Given the description of an element on the screen output the (x, y) to click on. 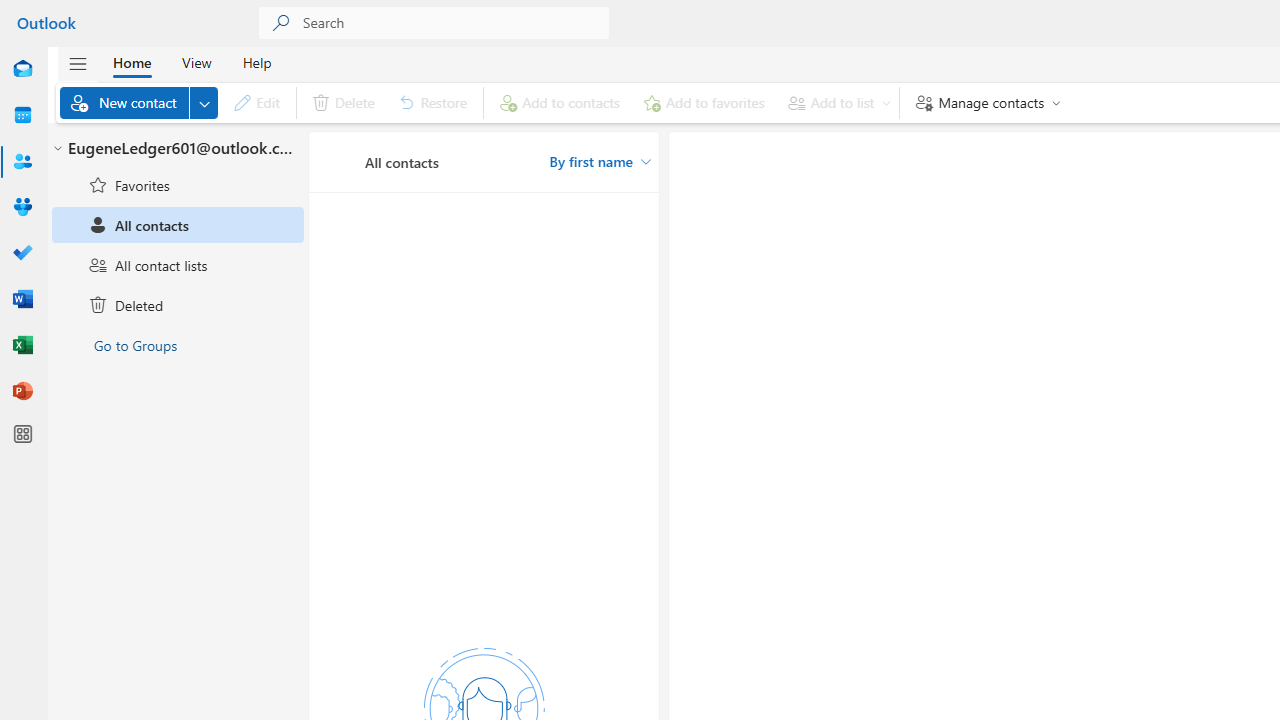
Word (22, 299)
System (10, 11)
All contacts (178, 225)
Hide navigation pane (77, 63)
Help (256, 61)
Deleted (178, 305)
Excel (22, 345)
Add to contacts (559, 102)
Calendar (22, 115)
Delete (342, 102)
Manage contacts (984, 102)
Add to favorites (703, 102)
New contact (139, 102)
System (10, 11)
Create new contact, contact list, or group (203, 102)
